Given the description of an element on the screen output the (x, y) to click on. 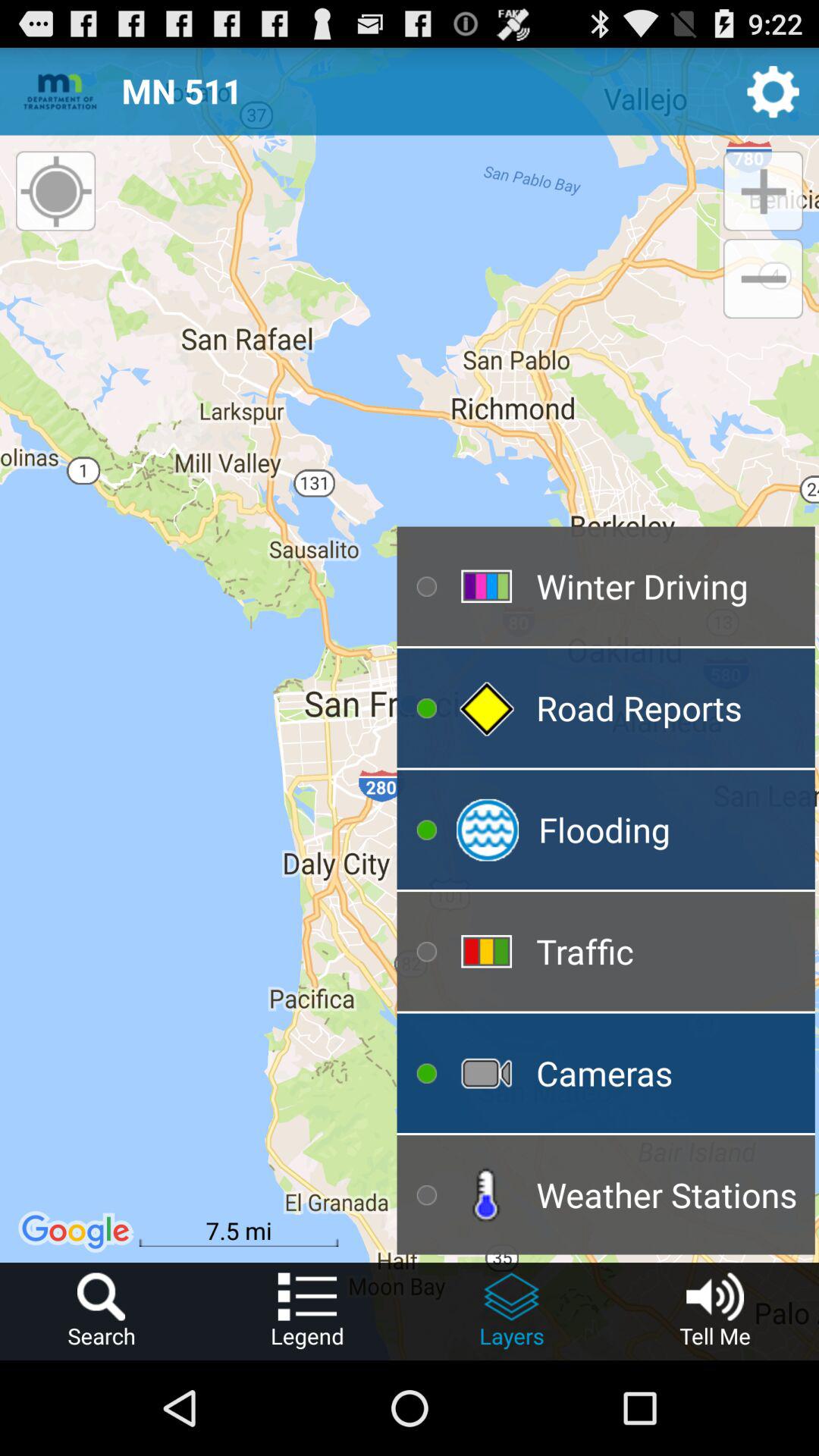
select app above winter driving (763, 278)
